Given the description of an element on the screen output the (x, y) to click on. 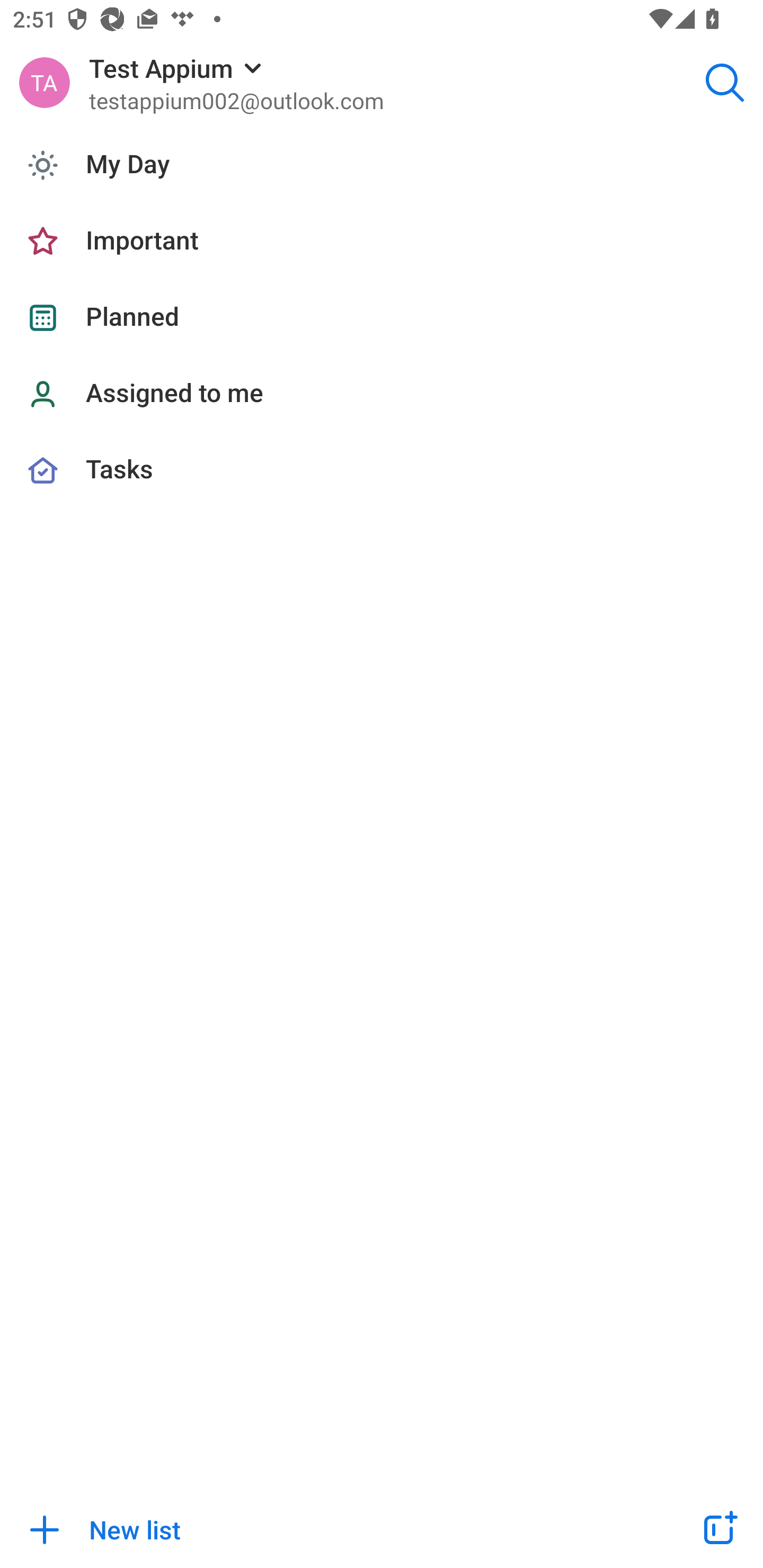
New list (328, 1529)
